Given the description of an element on the screen output the (x, y) to click on. 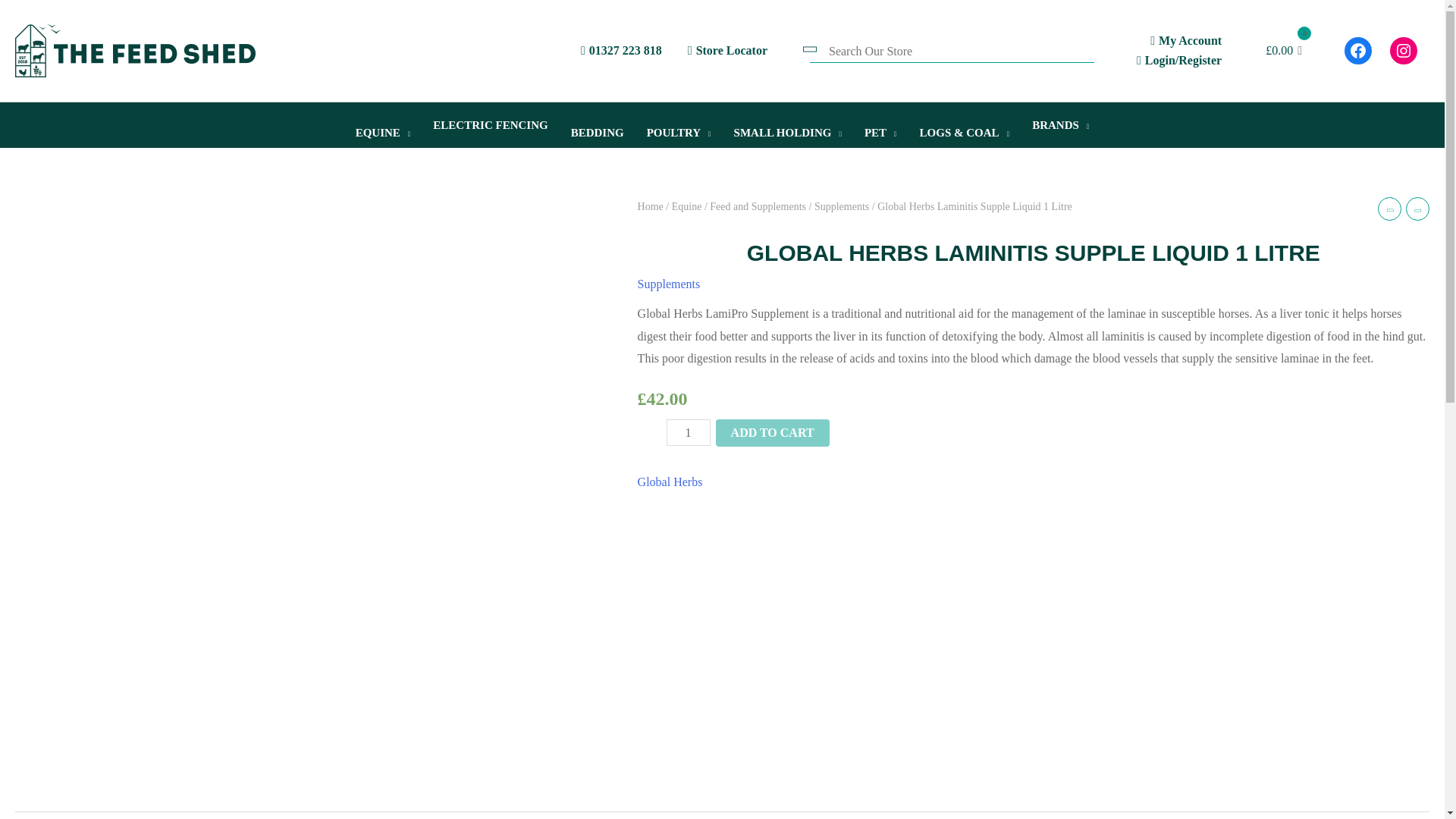
My Account (1185, 40)
Store Locator (727, 50)
1 (688, 432)
View brand (670, 481)
Facebook (1357, 50)
Instagram (1403, 50)
01327 223 818 (621, 50)
Search (32, 19)
EQUINE (382, 125)
